Given the description of an element on the screen output the (x, y) to click on. 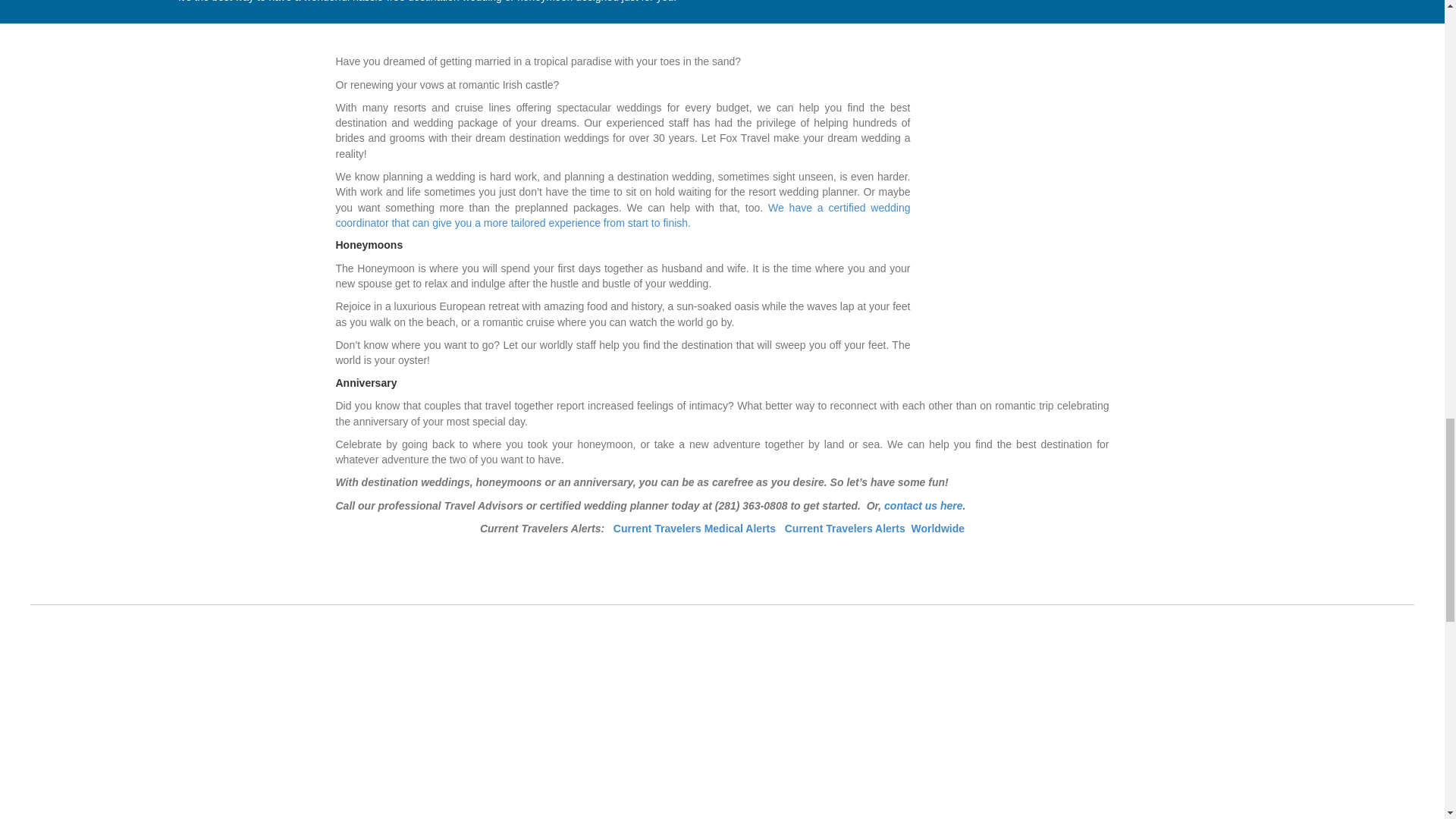
Associations-footer-2021-1008x82 (721, 670)
